Given the description of an element on the screen output the (x, y) to click on. 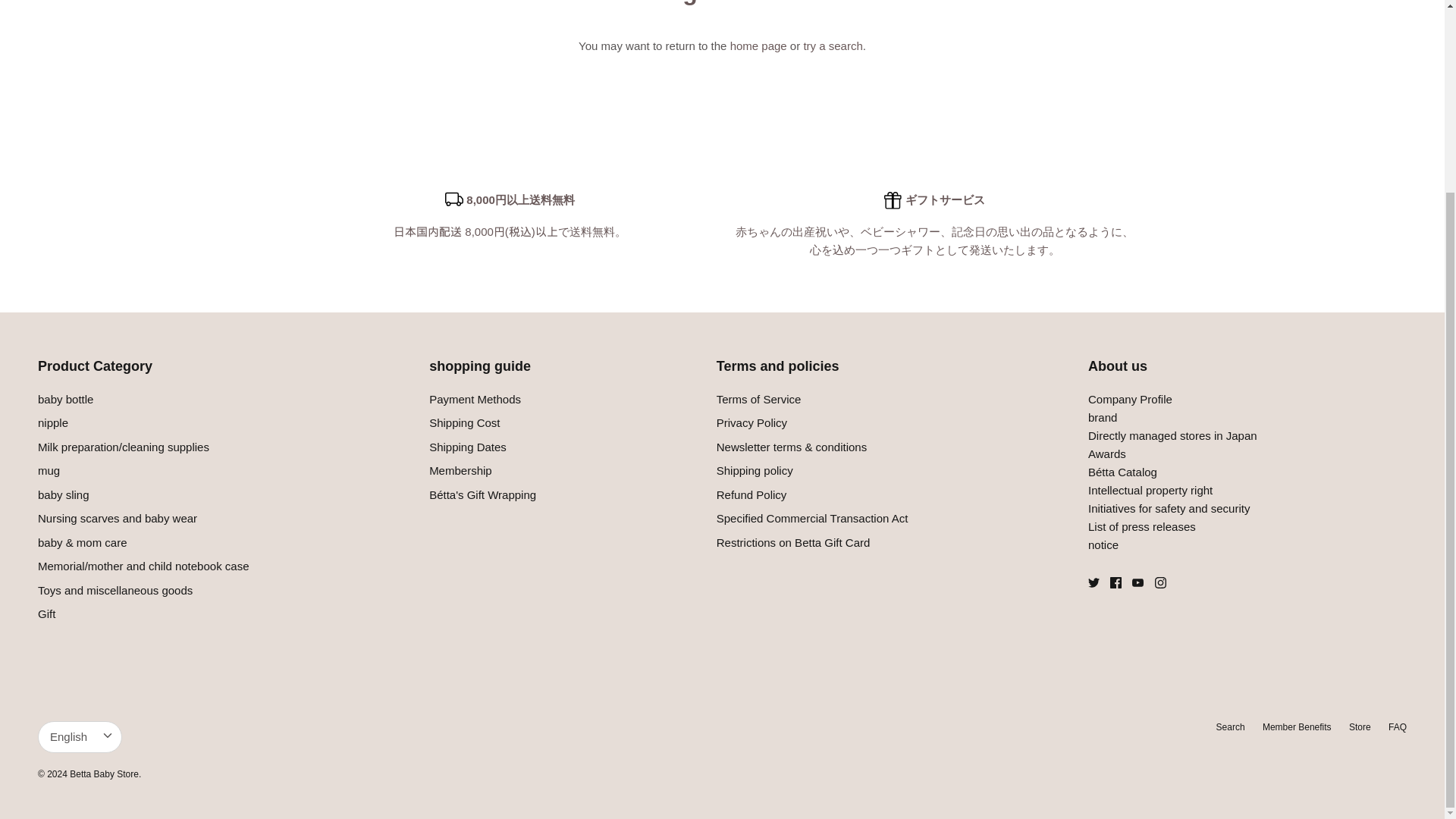
notice (1102, 544)
Initiatives for safety and security (1168, 508)
List of press releases (1141, 526)
Directly managed stores in Japan (1172, 435)
Awards (1122, 472)
Awards (1106, 453)
Company Profile (1129, 399)
About the brand (1101, 417)
